Given the description of an element on the screen output the (x, y) to click on. 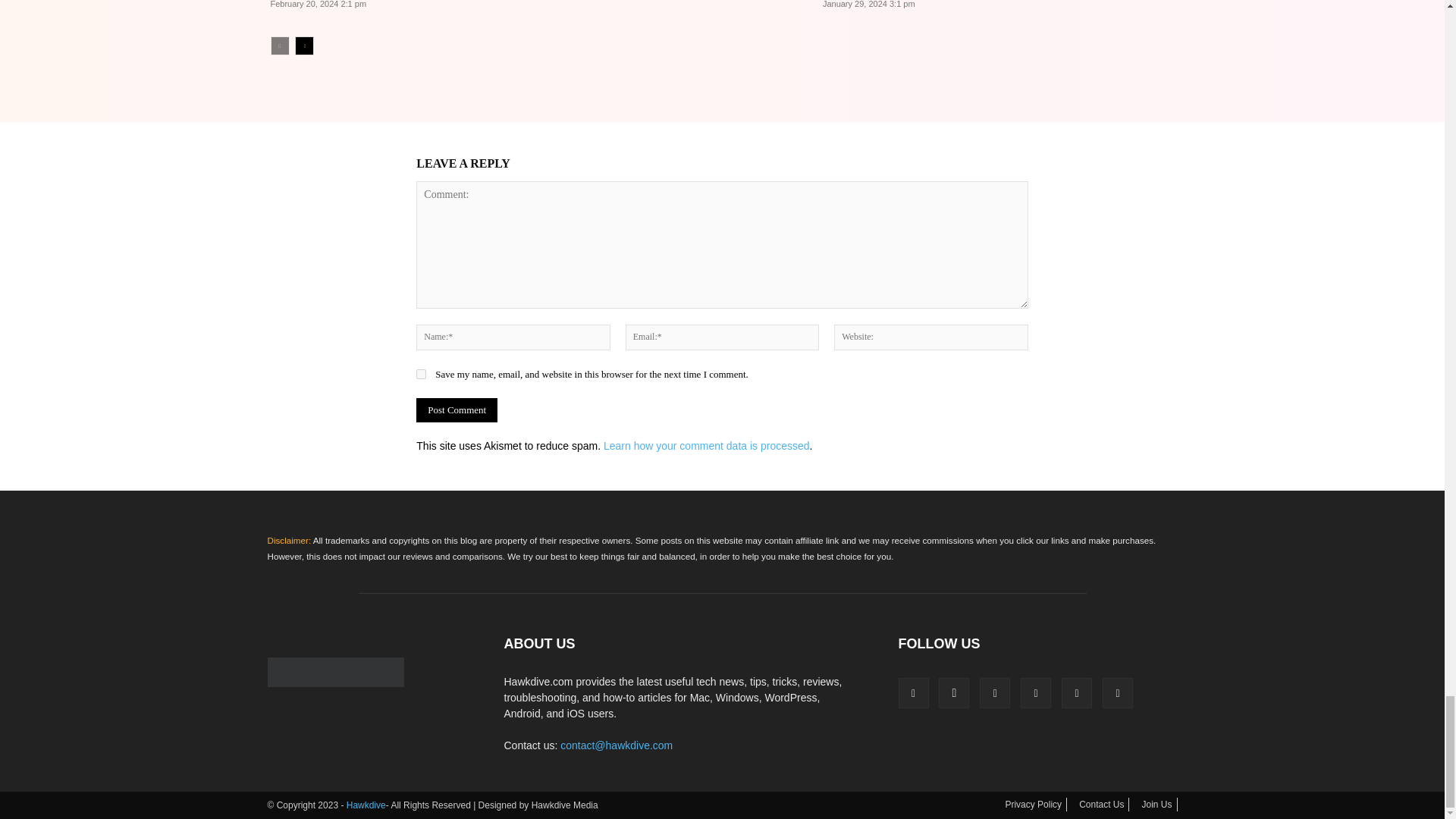
yes (421, 374)
Post Comment (456, 410)
